Given the description of an element on the screen output the (x, y) to click on. 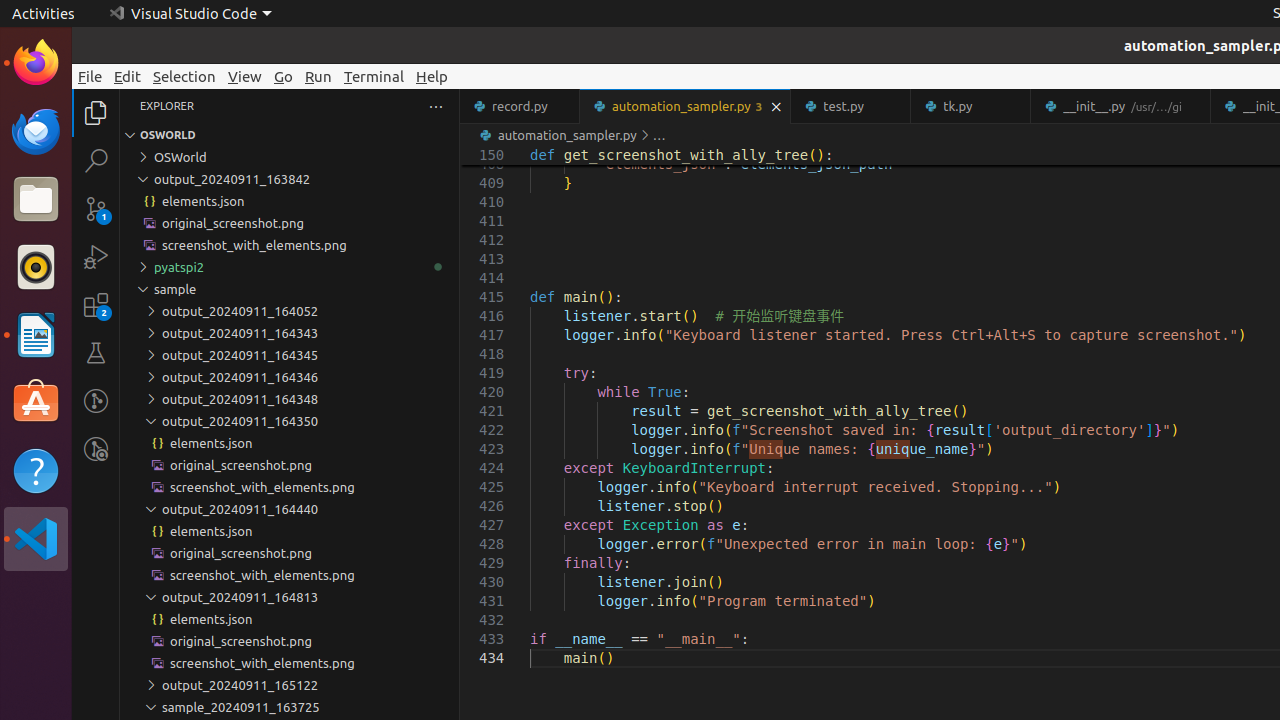
Explorer Section: osworld Element type: push-button (289, 135)
Run Element type: push-button (318, 76)
Testing Element type: page-tab (96, 353)
automation_sampler.py Element type: page-tab (686, 106)
